Given the description of an element on the screen output the (x, y) to click on. 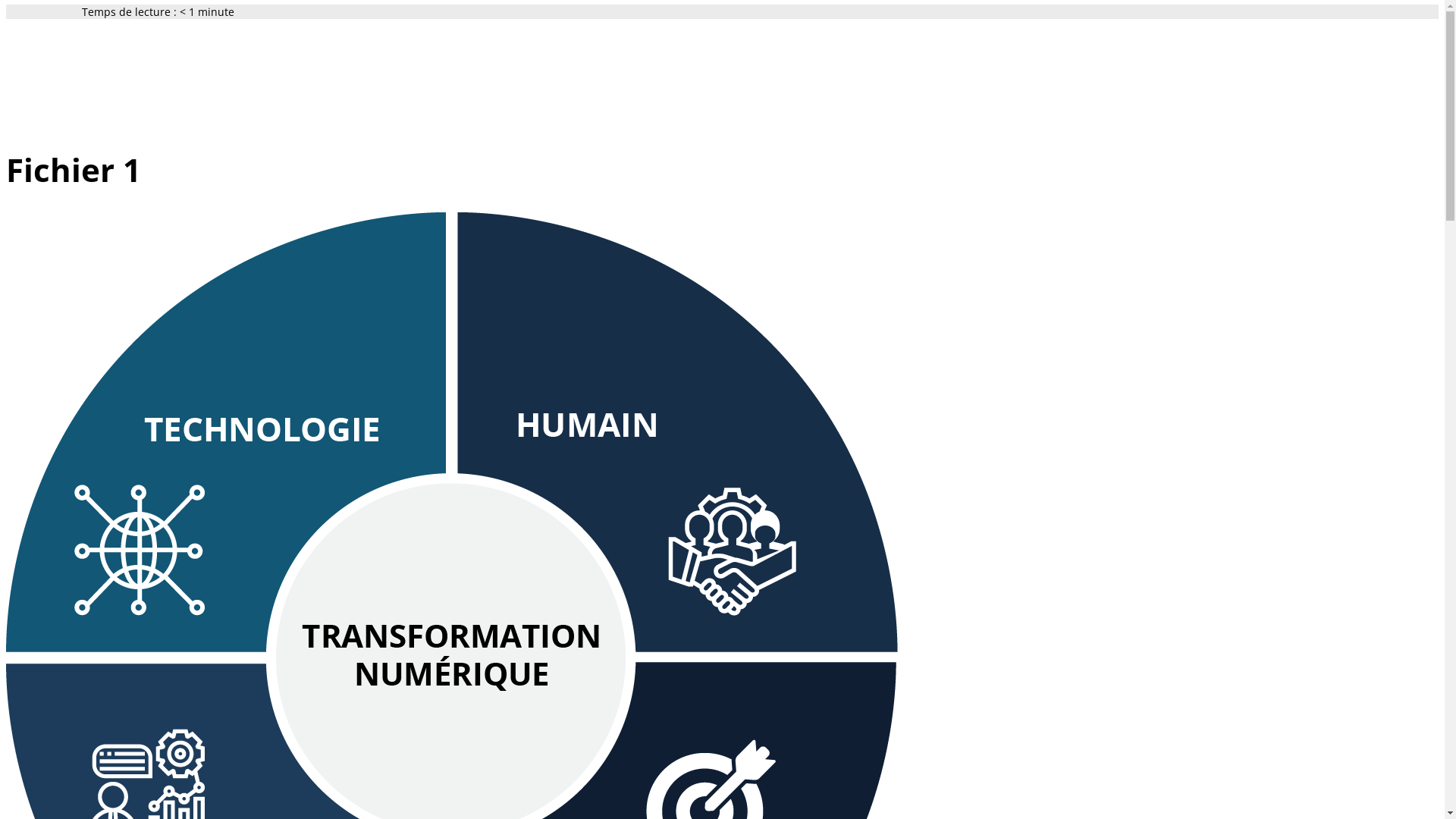
NOS PRESTATIONS Element type: text (324, 109)
NOUS CONTACTER Element type: text (521, 109)
QUI SOMMES-NOUS Element type: text (221, 109)
